Given the description of an element on the screen output the (x, y) to click on. 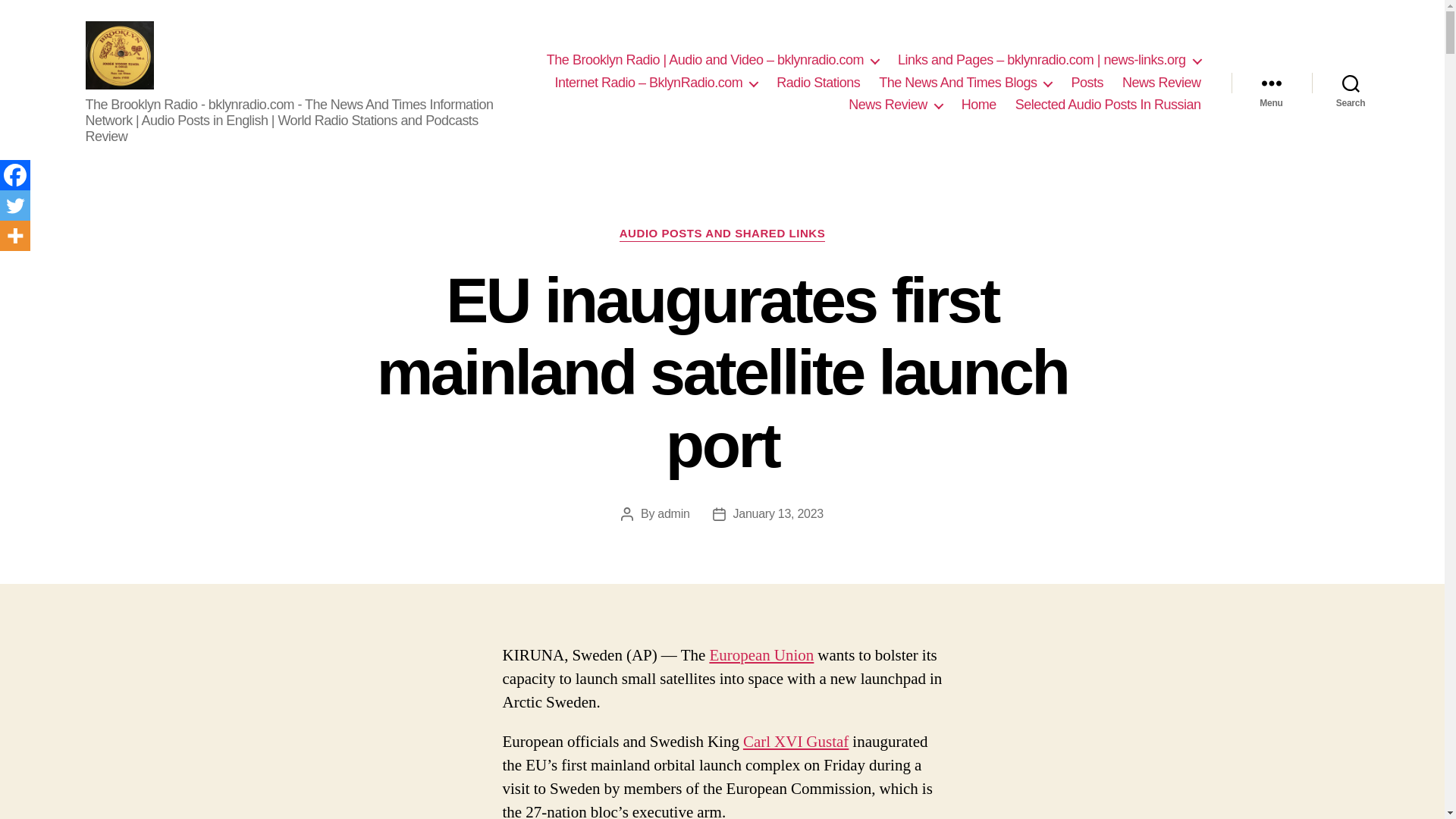
Radio Stations (818, 83)
The News And Times Blogs (965, 83)
Search (1350, 82)
Home (977, 105)
Twitter (15, 205)
More (15, 235)
Menu (1271, 82)
Posts (1086, 83)
Selected Audio Posts In Russian (1107, 105)
News Review (895, 105)
